Given the description of an element on the screen output the (x, y) to click on. 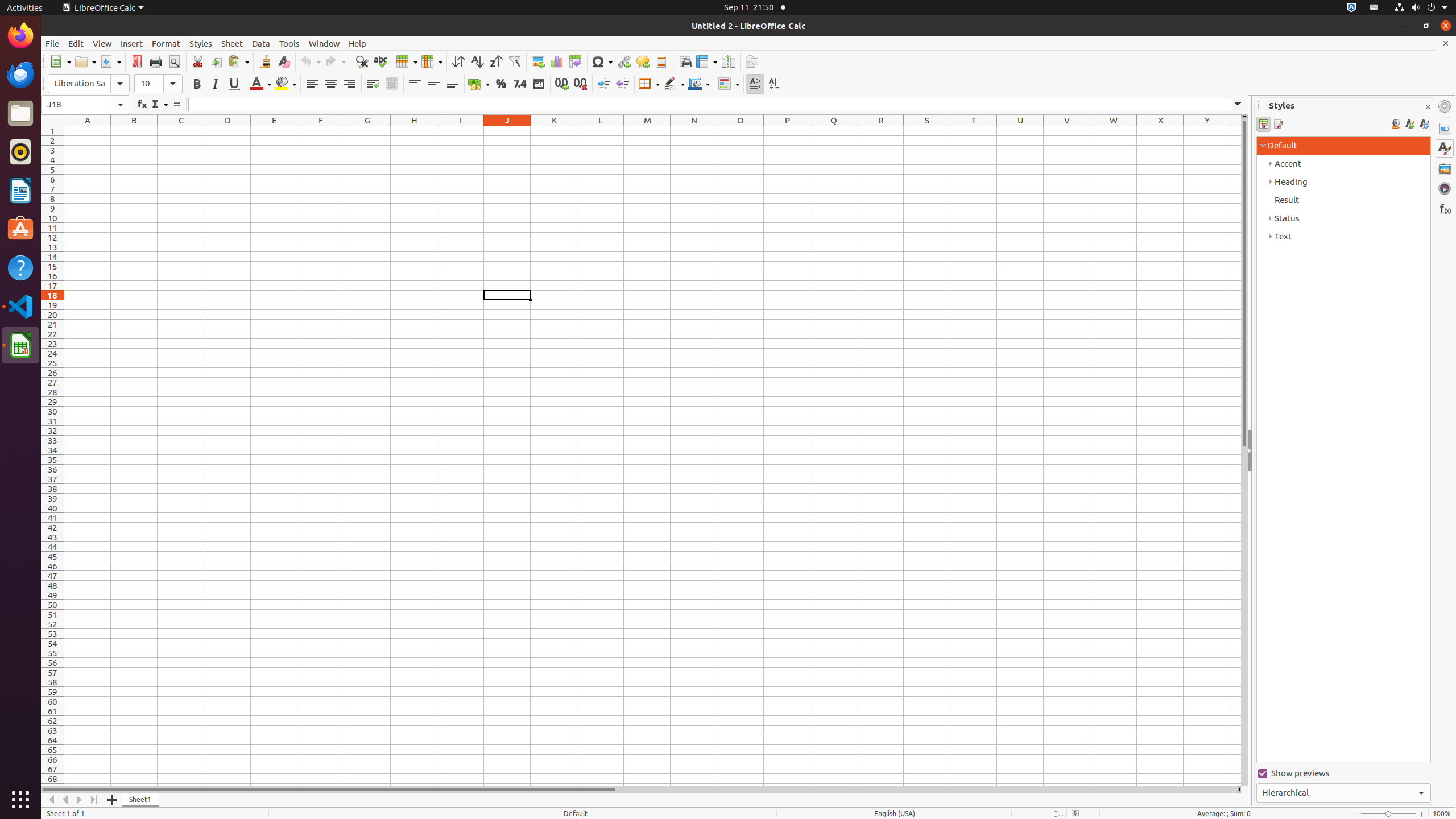
Formula Element type: push-button (176, 104)
Underline Element type: push-button (233, 83)
Input line Element type: text (716, 104)
Page Styles Element type: push-button (1277, 123)
